Given the description of an element on the screen output the (x, y) to click on. 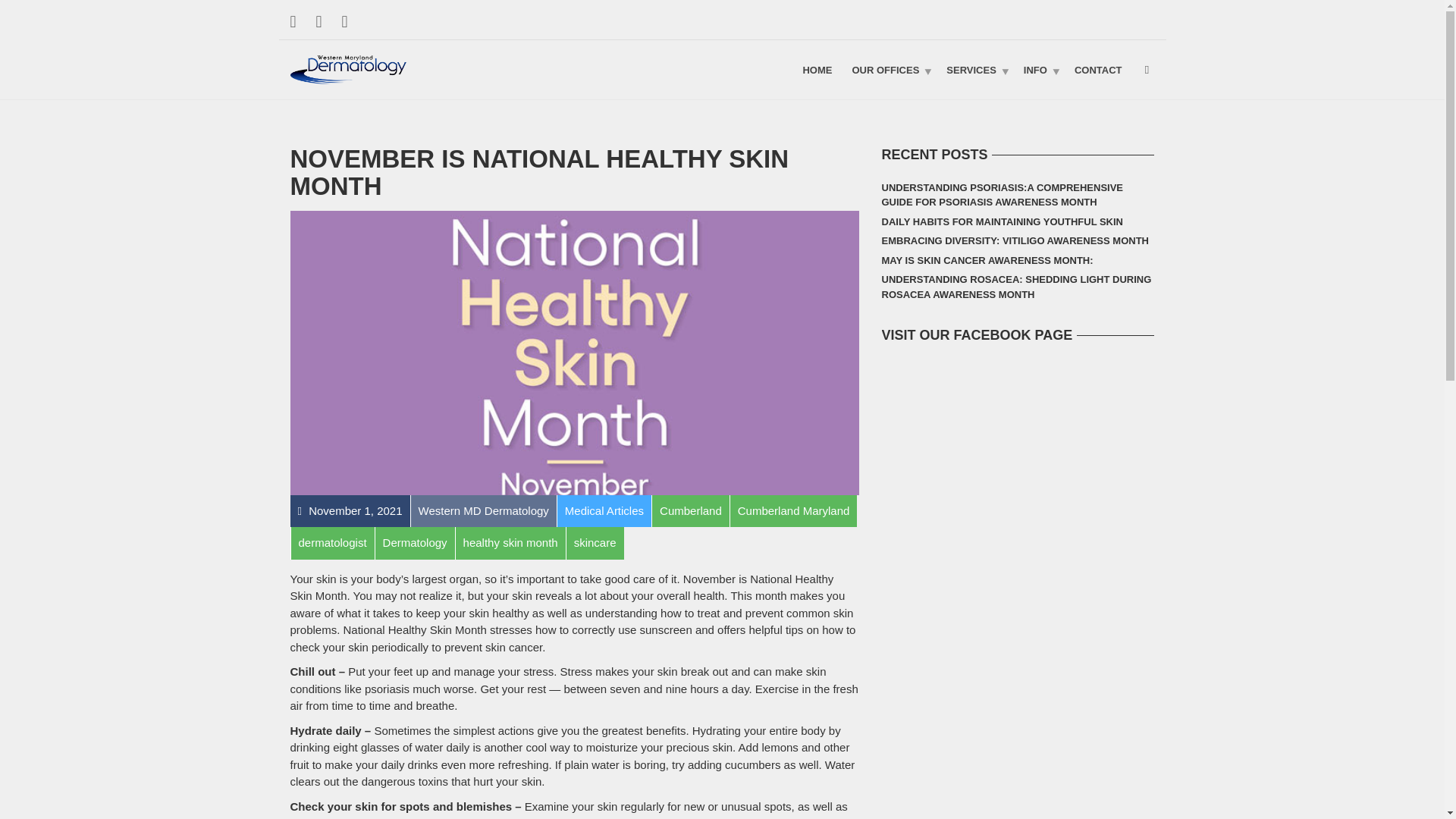
healthy skin month (510, 542)
CONTACT (1098, 68)
Medical Articles (603, 510)
Our Offices (888, 68)
OUR OFFICES (888, 68)
skincare (595, 542)
EMBRACING DIVERSITY: VITILIGO AWARENESS MONTH (1014, 240)
MAY IS SKIN CANCER AWARENESS MONTH: (986, 260)
Home (816, 68)
